Given the description of an element on the screen output the (x, y) to click on. 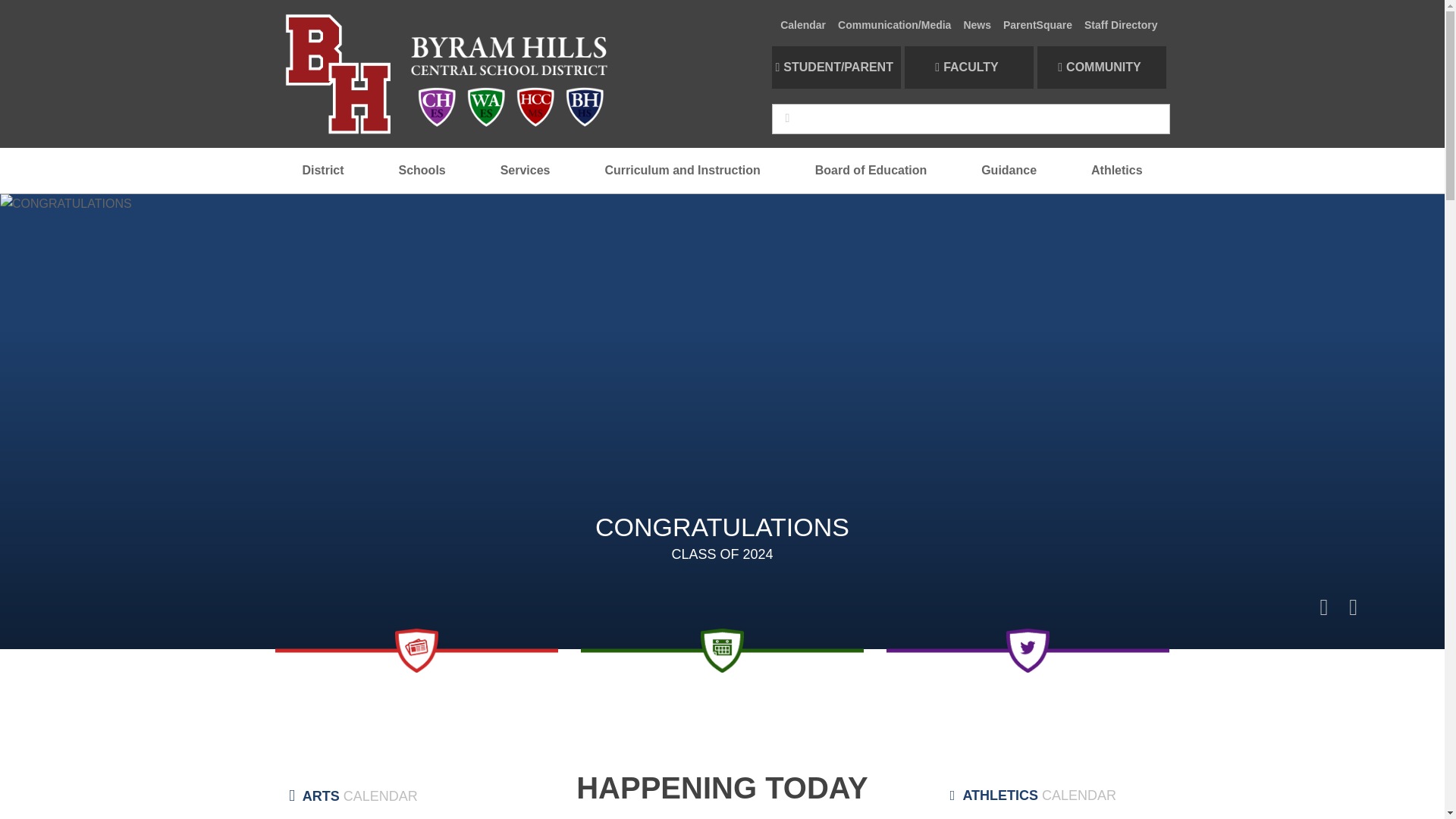
Calendar (721, 650)
News (416, 650)
Twitter (1027, 650)
